Given the description of an element on the screen output the (x, y) to click on. 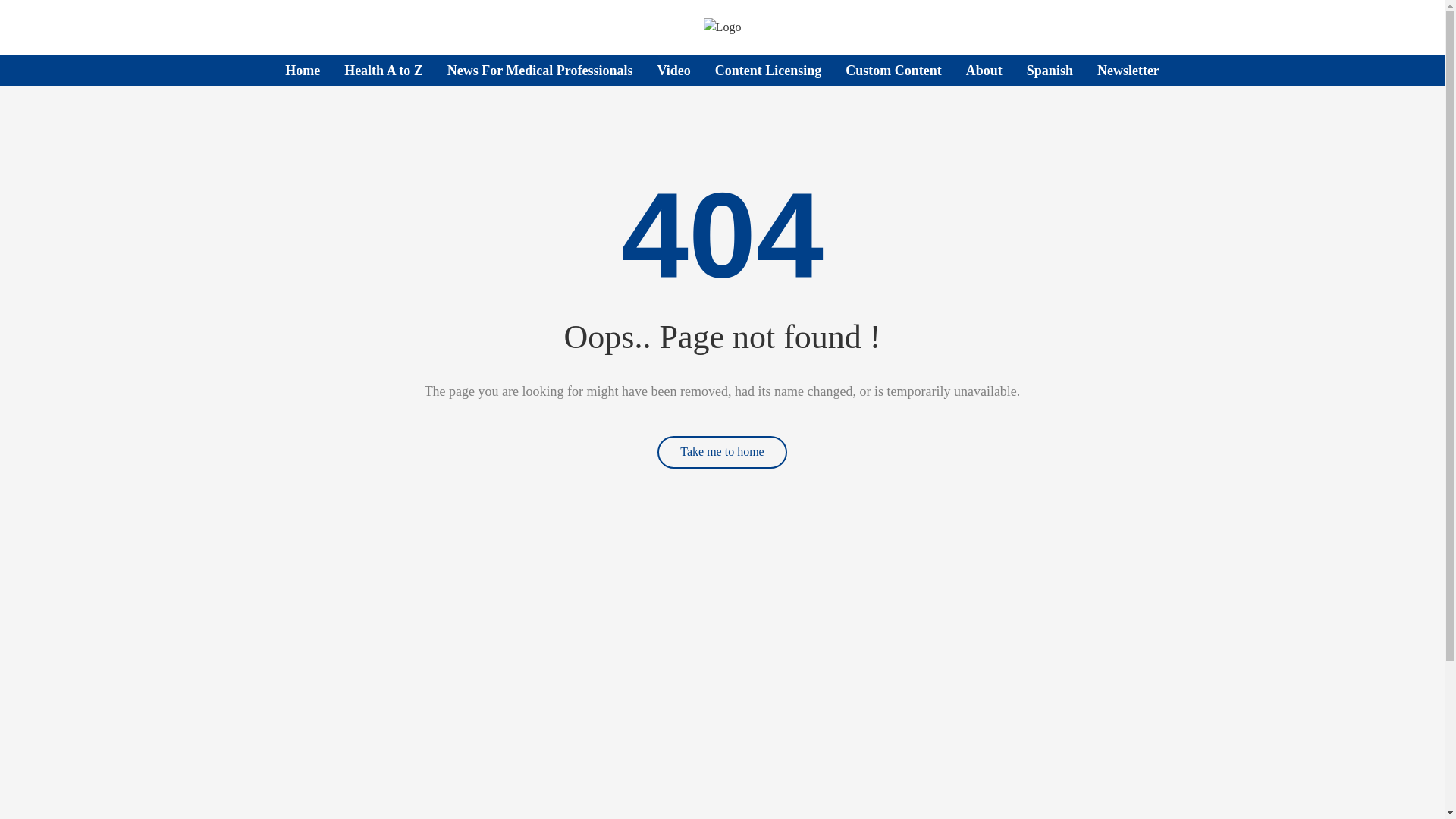
Health A to Z (383, 70)
Home (302, 70)
